Given the description of an element on the screen output the (x, y) to click on. 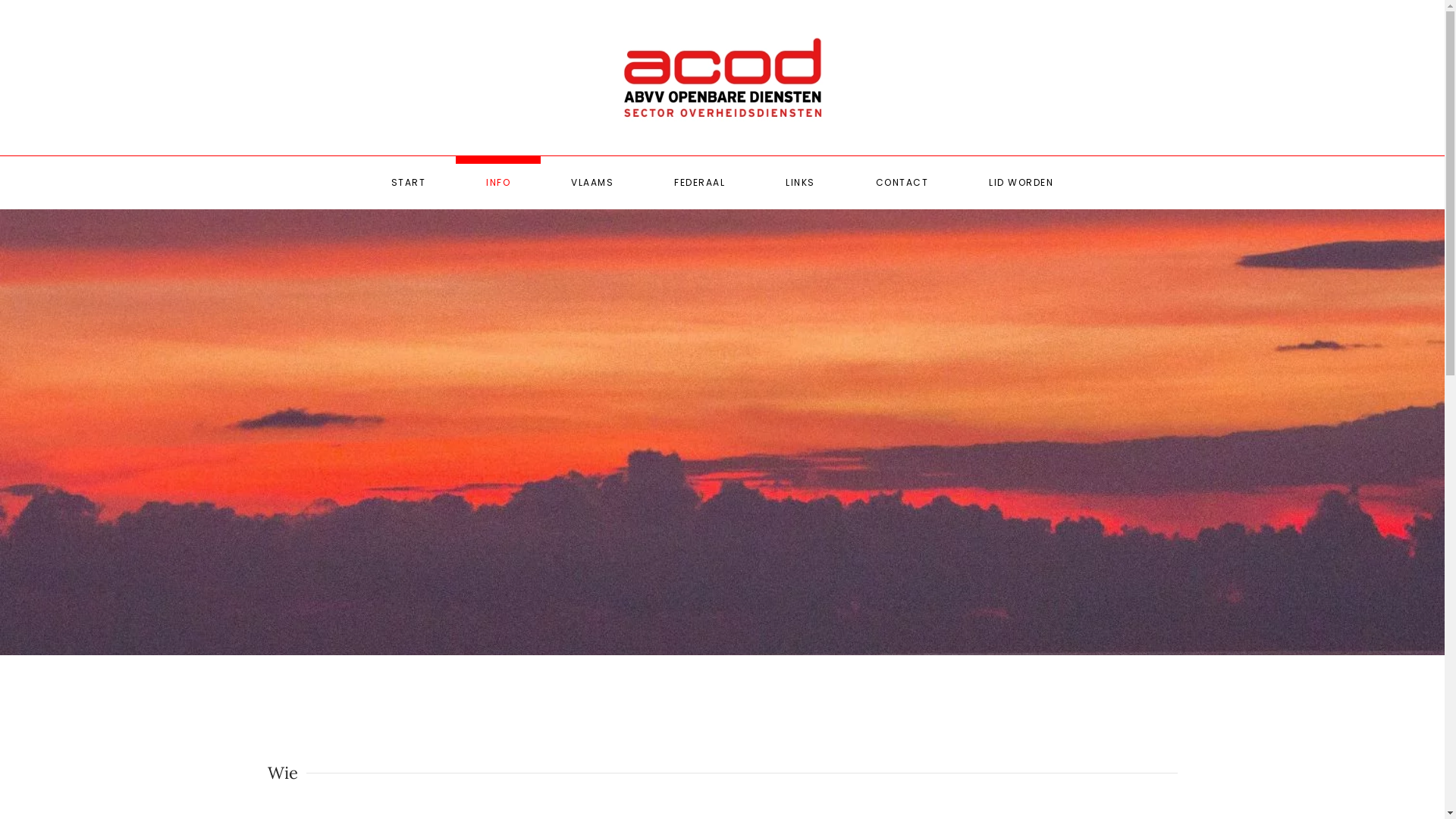
VLAAMS Element type: text (591, 182)
INFO Element type: text (497, 182)
CONTACT Element type: text (902, 182)
FEDERAAL Element type: text (699, 182)
LID WORDEN Element type: text (1020, 182)
START Element type: text (408, 182)
LINKS Element type: text (800, 182)
